Given the description of an element on the screen output the (x, y) to click on. 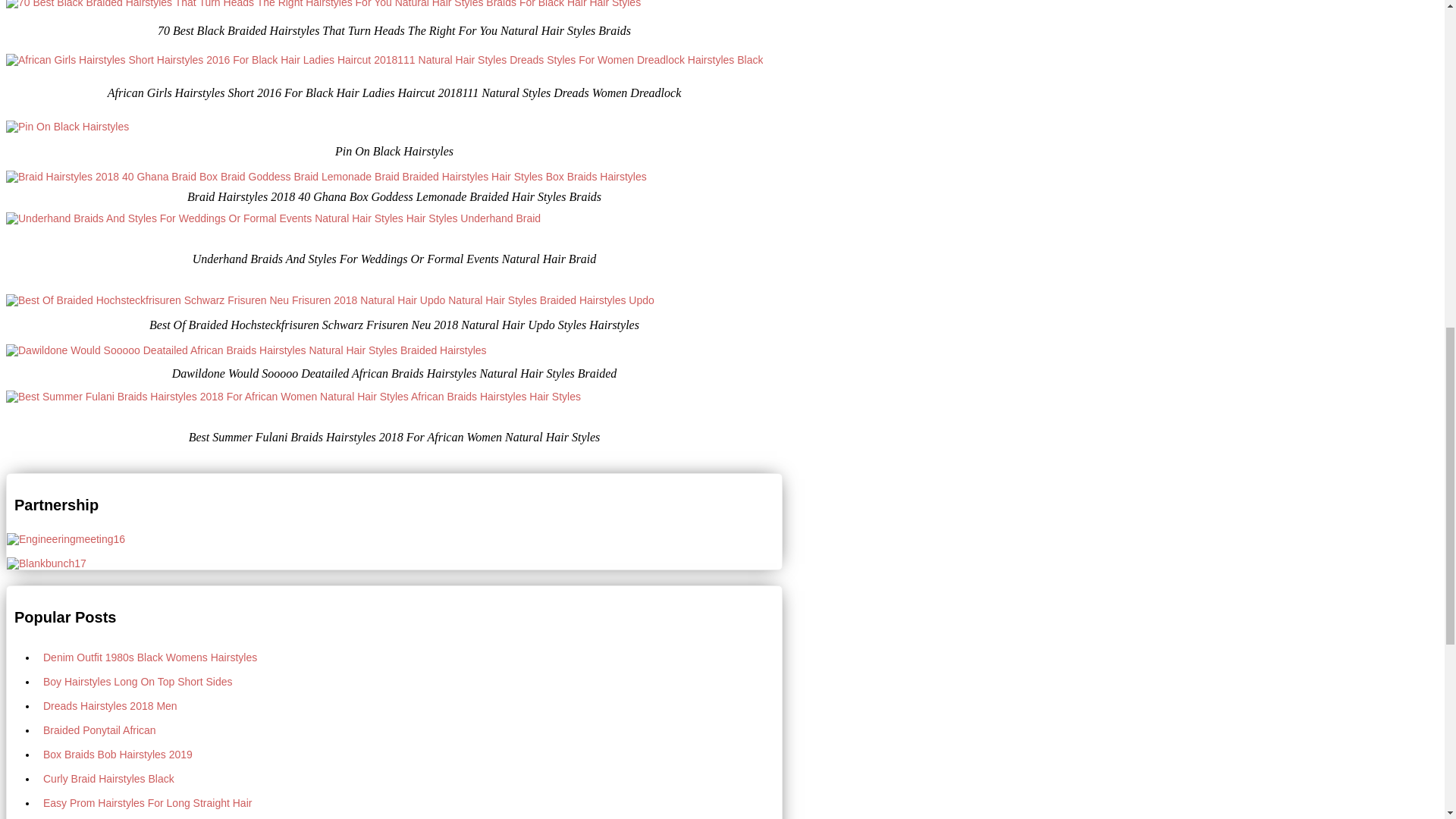
Easy Prom Hairstyles For Long Straight Hair (409, 802)
Boy Hairstyles Long On Top Short Sides (409, 681)
Box Braids Bob Hairstyles 2019 (409, 754)
Blankbunch17 (46, 563)
Curly Braid Hairstyles Black (409, 778)
Dreads Hairstyles 2018 Men (409, 705)
Braided Ponytail African (409, 730)
Engineeringmeeting16 (66, 539)
Denim Outfit 1980s Black Womens Hairstyles (409, 657)
